Given the description of an element on the screen output the (x, y) to click on. 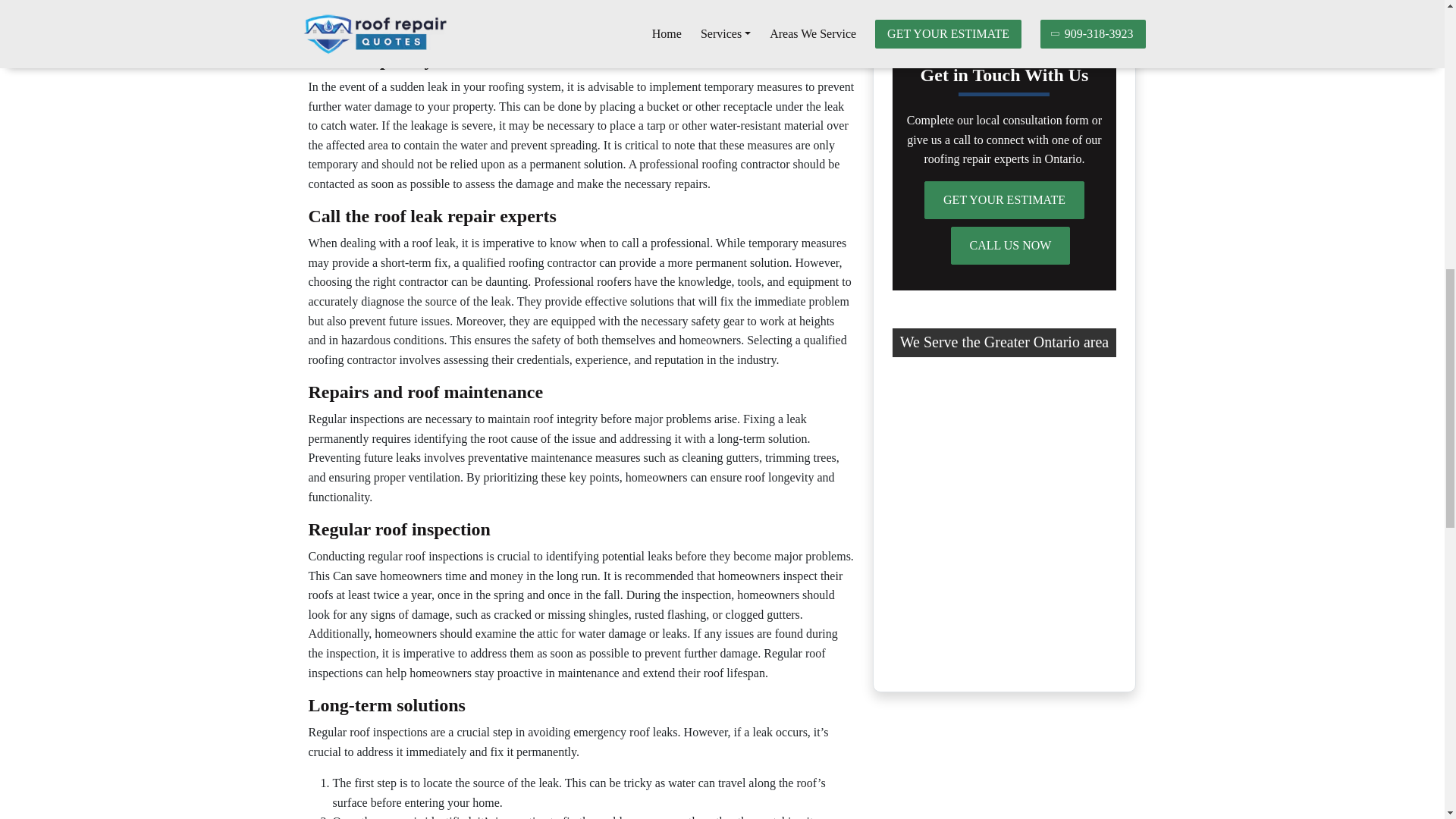
GET YOUR ESTIMATE (1004, 199)
CALL US NOW (1010, 245)
